Given the description of an element on the screen output the (x, y) to click on. 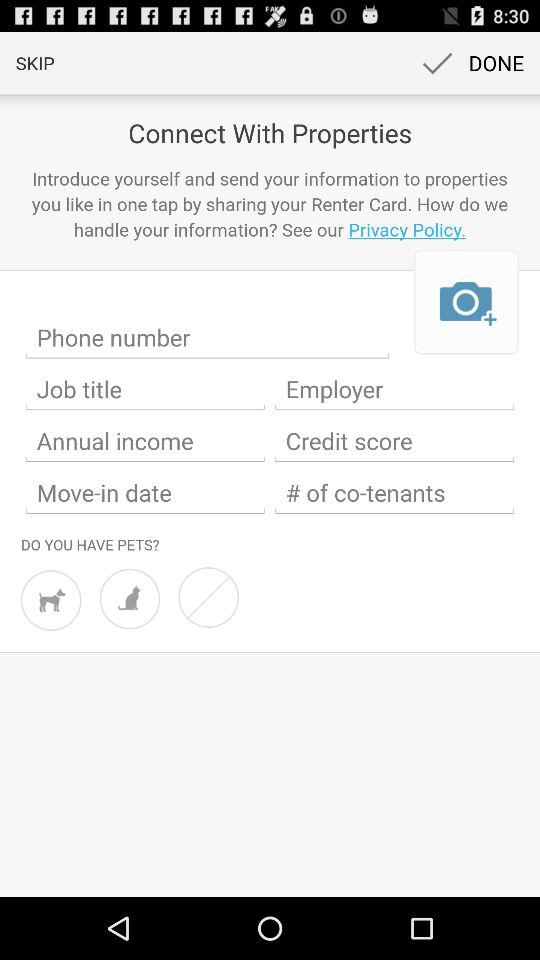
add a photo (466, 301)
